Given the description of an element on the screen output the (x, y) to click on. 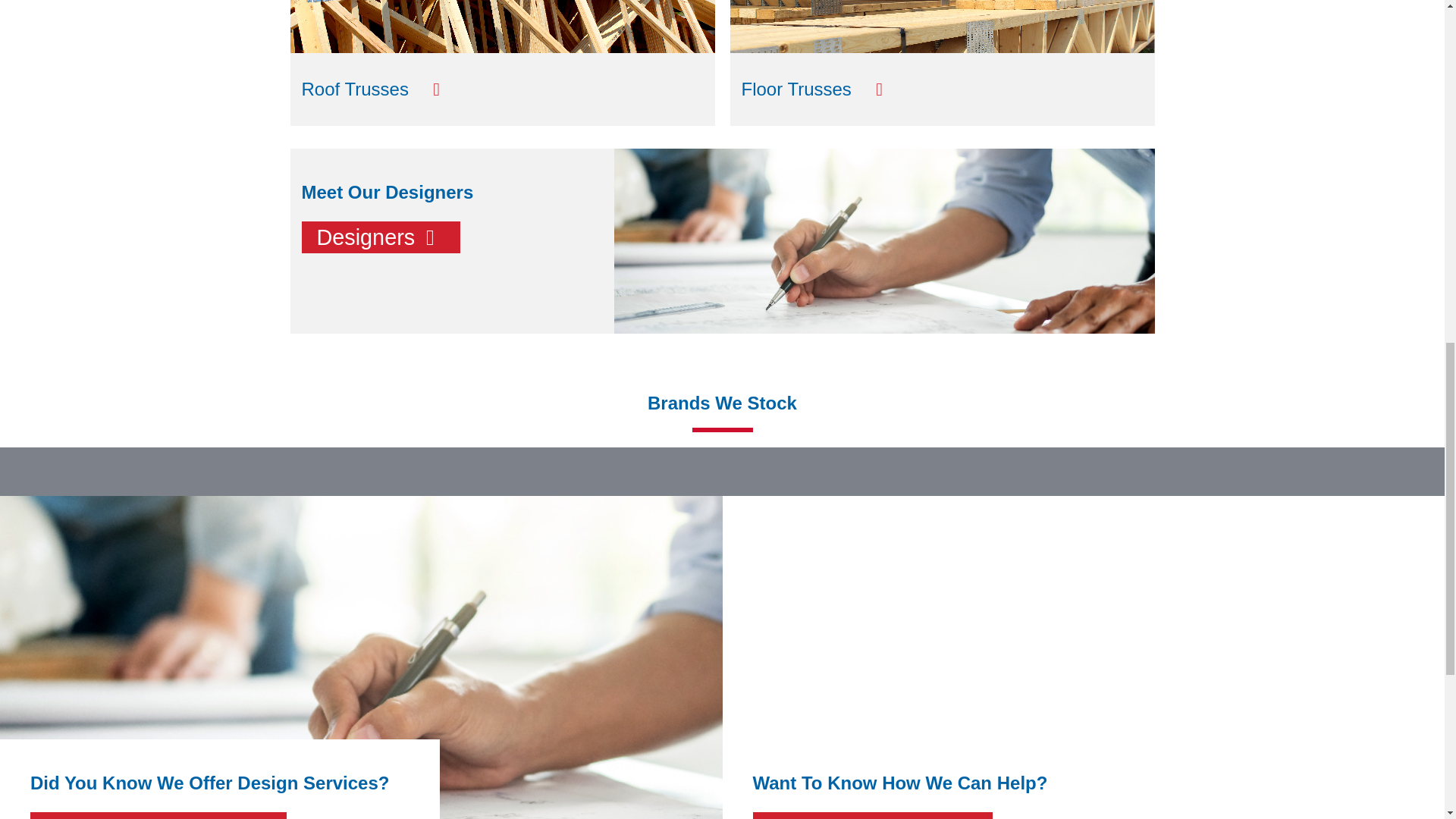
Roof Trusses (502, 89)
Designers (381, 237)
Floor Trusses (941, 89)
